Given the description of an element on the screen output the (x, y) to click on. 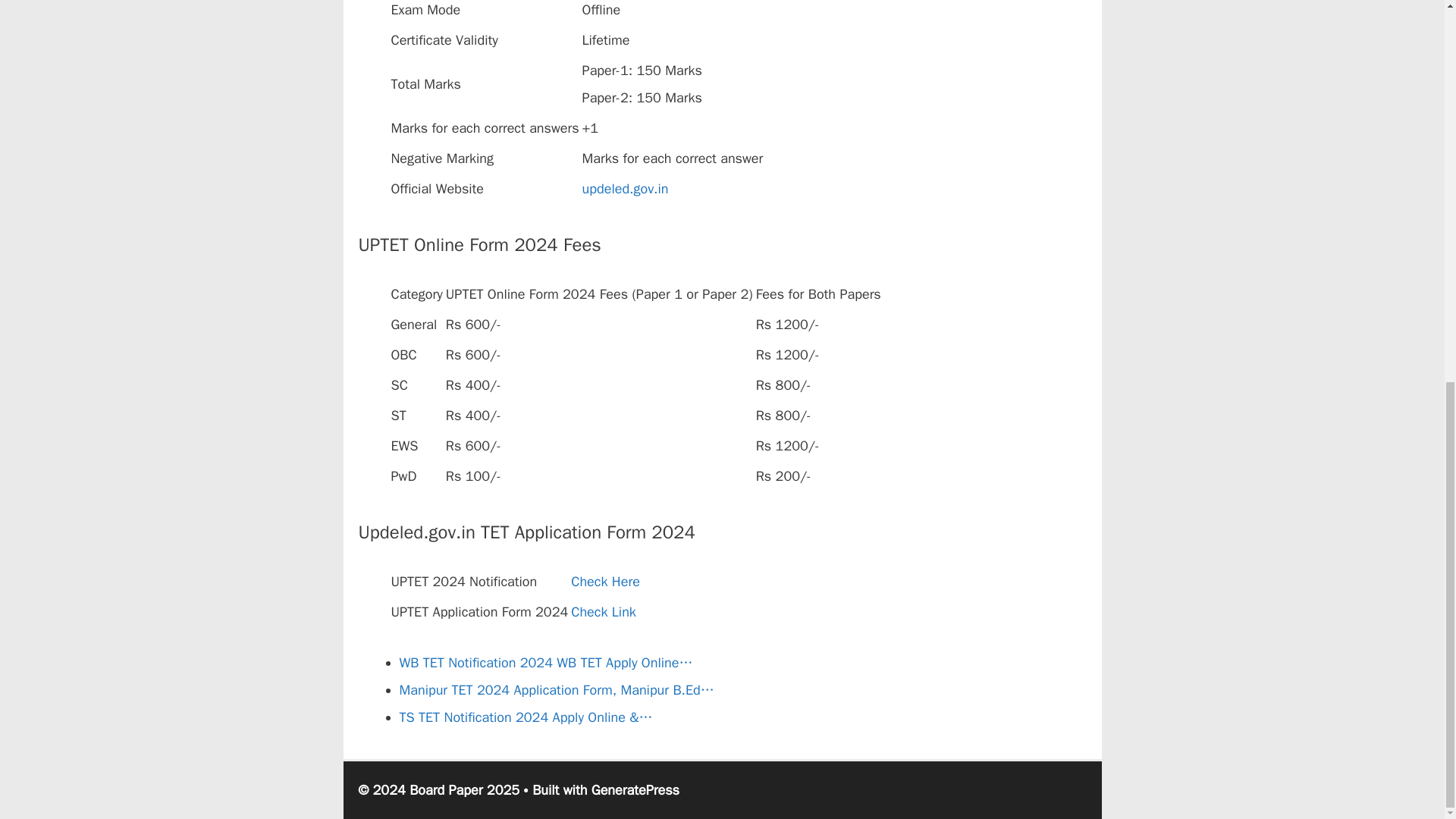
Check Link (603, 611)
Check Here (605, 581)
updeled.gov.in (625, 188)
GeneratePress (635, 790)
